Given the description of an element on the screen output the (x, y) to click on. 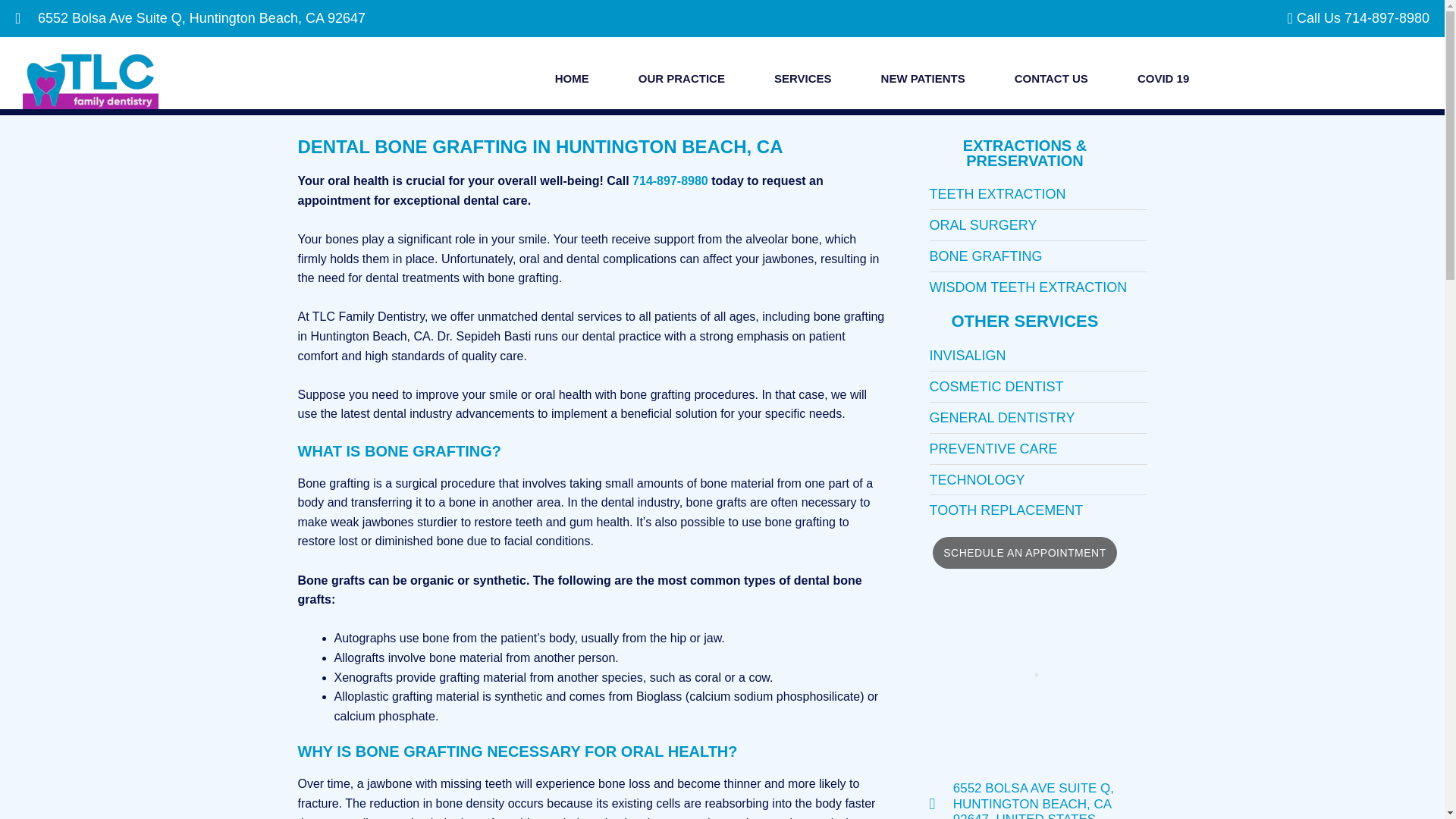
SERVICES (802, 78)
OUR PRACTICE (681, 78)
6552 Bolsa Ave Suite Q, Huntington Beach, CA 92647 (368, 18)
Call Us 714-897-8980 (1351, 18)
HOME (571, 78)
